Given the description of an element on the screen output the (x, y) to click on. 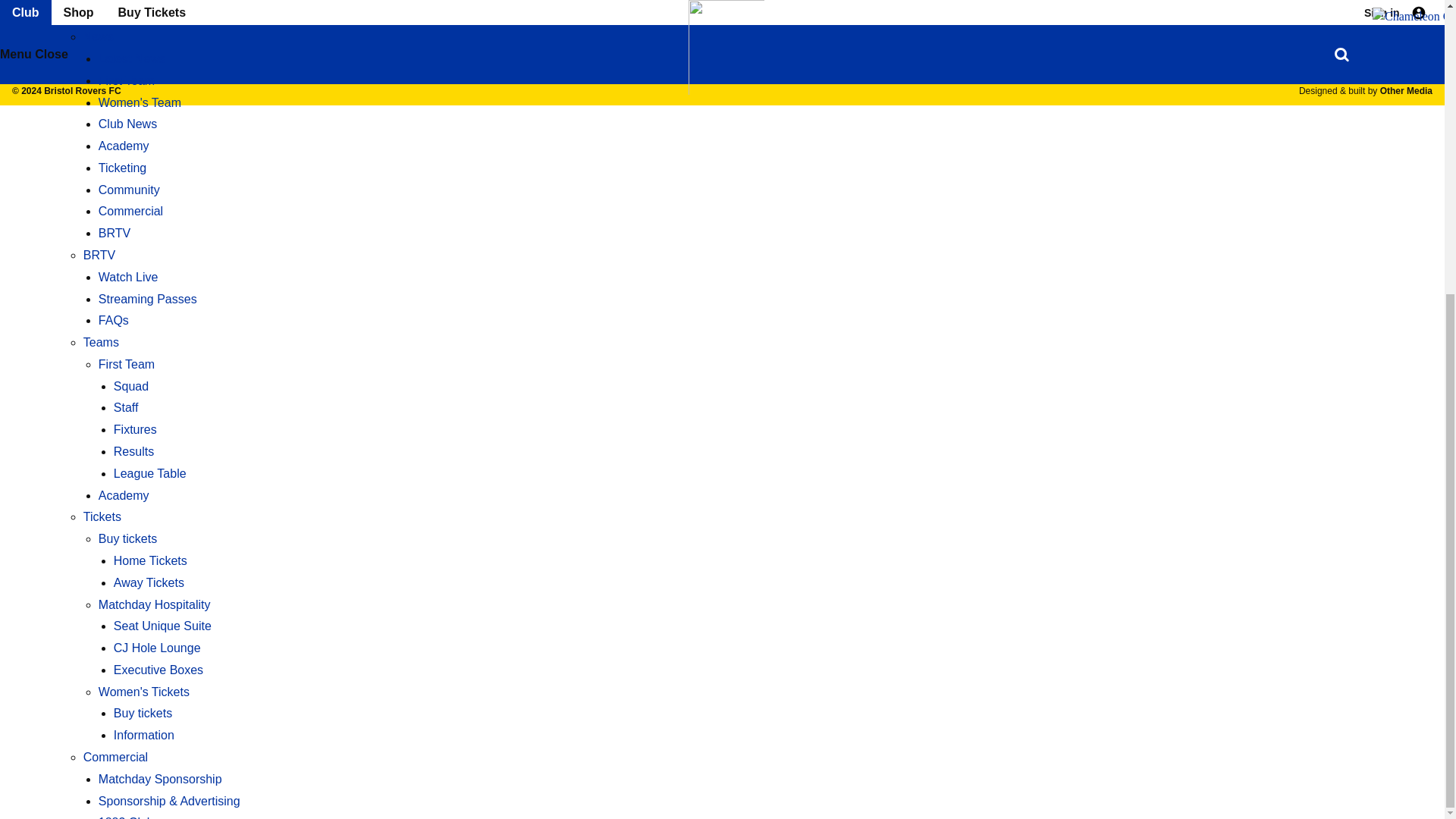
Academy (124, 44)
Matchday Hospitality (155, 153)
Home Tickets (150, 110)
Crystal Business Finance (996, 16)
Buy tickets (128, 88)
League Table (149, 22)
Away Tickets (148, 132)
Seat Unique Suite (162, 174)
Smart Computers (821, 18)
KN Office (1344, 13)
